Given the description of an element on the screen output the (x, y) to click on. 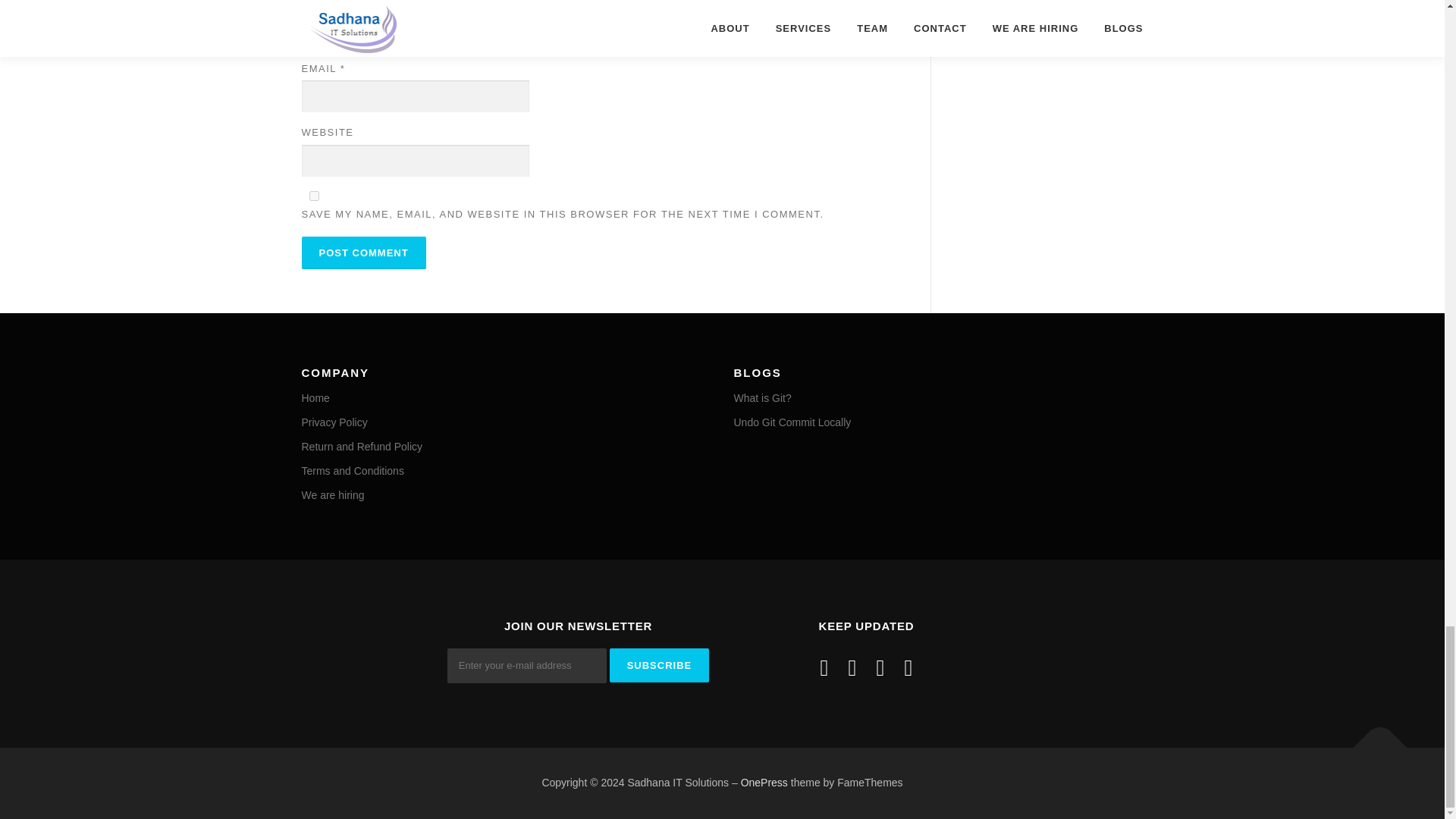
Back To Top (1372, 740)
Subscribe (660, 665)
Undo Git Commit Locally (792, 422)
Subscribe (660, 665)
What is Git? (762, 398)
Home (315, 398)
Terms and Conditions (352, 470)
Post Comment (363, 252)
Privacy Policy (334, 422)
Post Comment (363, 252)
yes (313, 194)
We are hiring (333, 494)
Return and Refund Policy (362, 446)
